Given the description of an element on the screen output the (x, y) to click on. 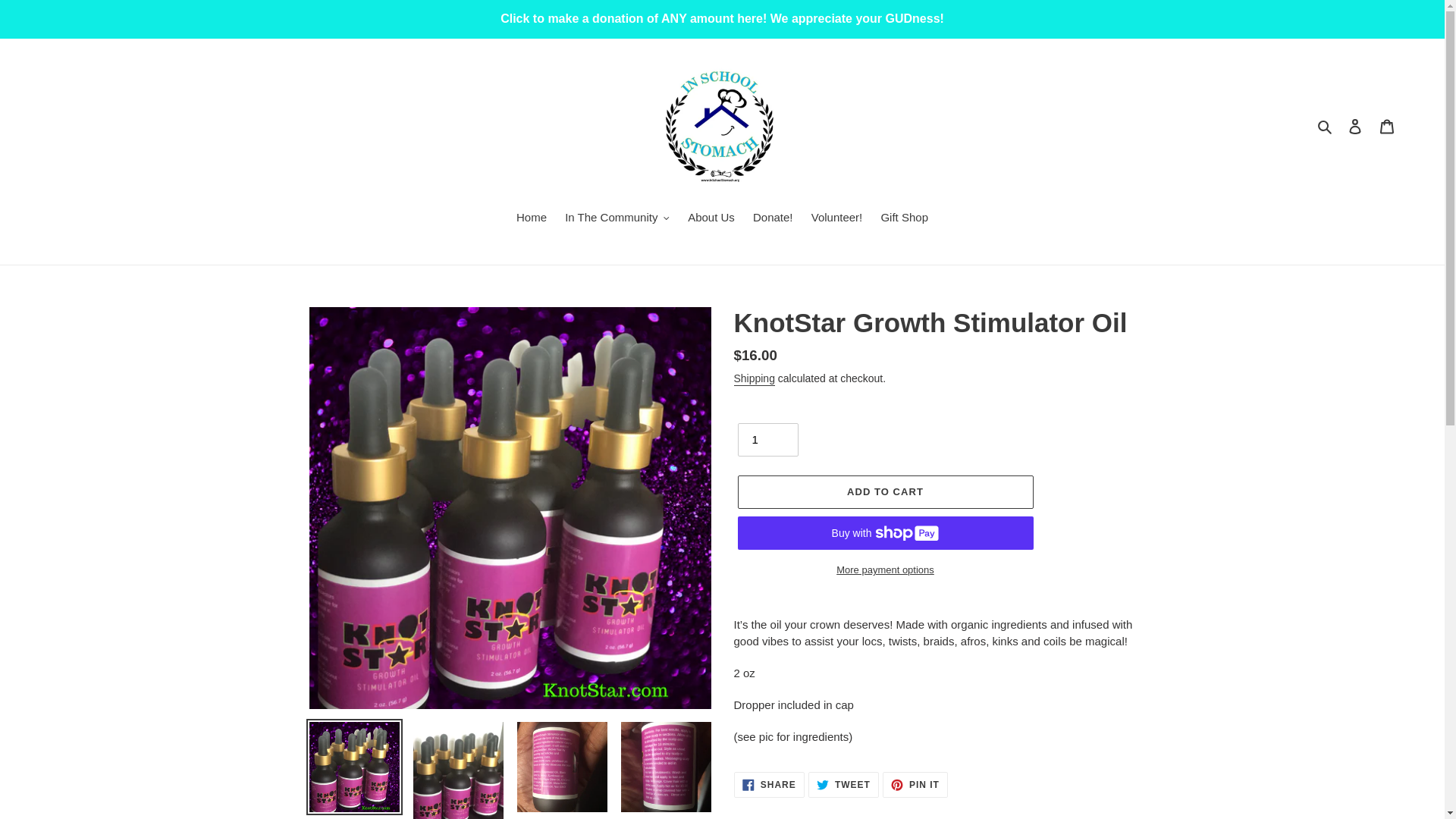
Search (1326, 126)
About Us (710, 219)
Donate! (772, 219)
ADD TO CART (884, 491)
In The Community (769, 784)
Cart (617, 219)
Home (1387, 125)
Shipping (531, 219)
Log in (753, 378)
1 (1355, 125)
Volunteer! (766, 439)
More payment options (836, 219)
